Given the description of an element on the screen output the (x, y) to click on. 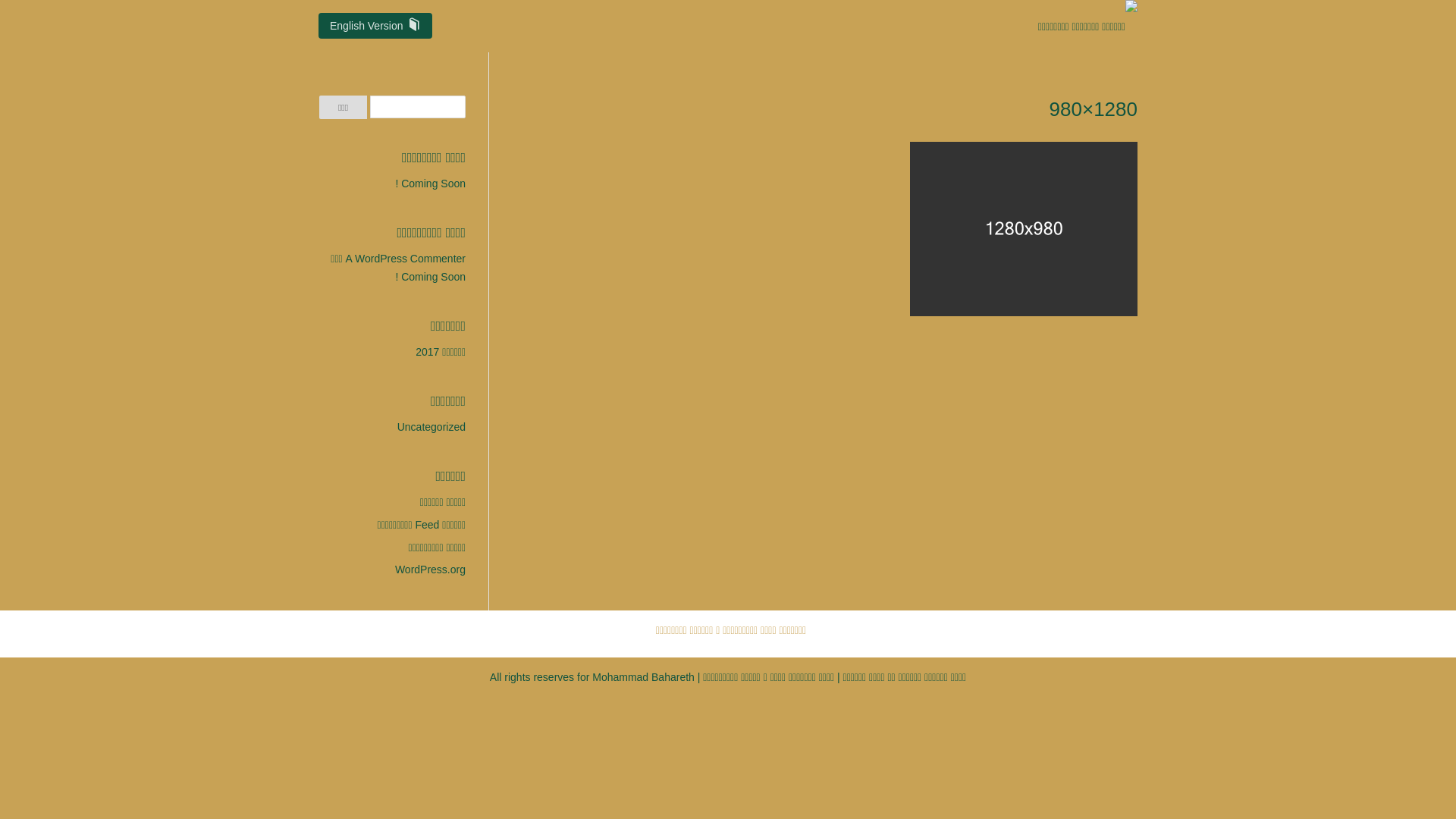
WordPress.org Element type: text (430, 569)
Uncategorized Element type: text (431, 426)
A WordPress Commenter Element type: text (405, 258)
Coming Soon ! Element type: text (430, 276)
Coming Soon ! Element type: text (430, 183)
English Version Element type: text (374, 25)
